Given the description of an element on the screen output the (x, y) to click on. 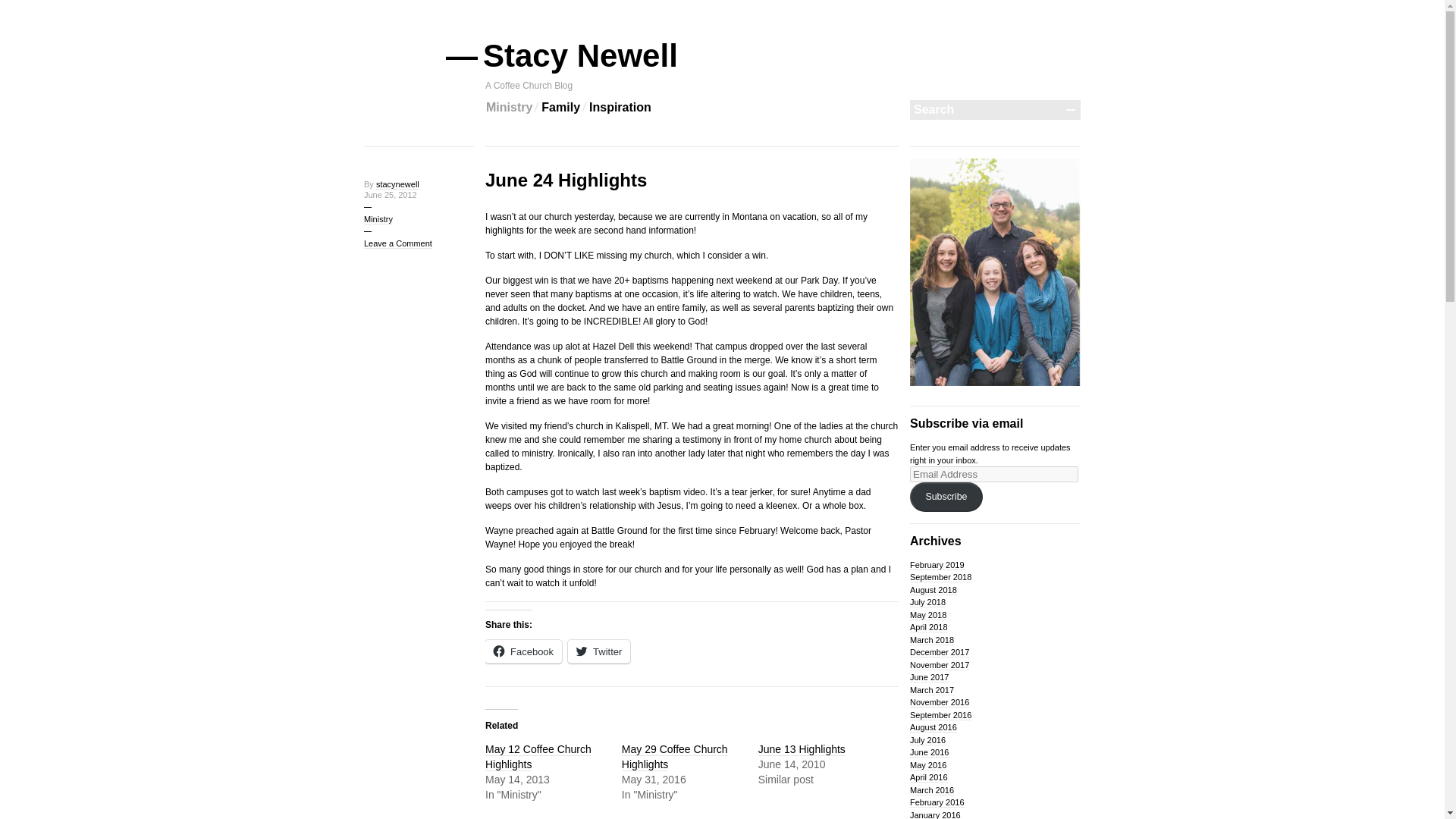
March 2016 (931, 790)
May 2016 (928, 765)
Inspiration (619, 107)
Family (560, 107)
November 2017 (939, 665)
June 25, 2012 (390, 194)
Search (986, 109)
April 2018 (928, 627)
March 2017 (931, 690)
Ministry (509, 107)
